Given the description of an element on the screen output the (x, y) to click on. 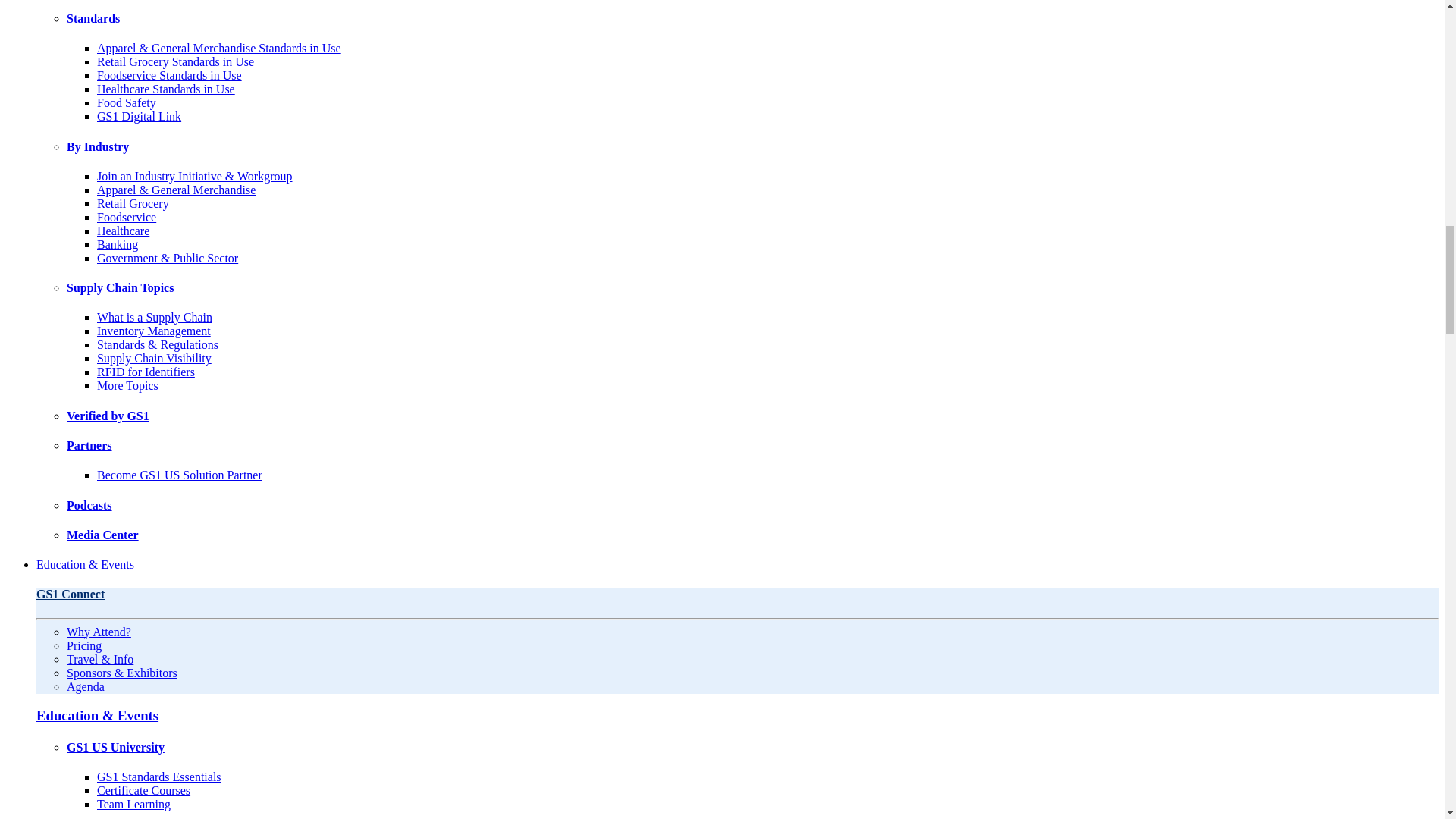
GS1 Connect (70, 594)
